Given the description of an element on the screen output the (x, y) to click on. 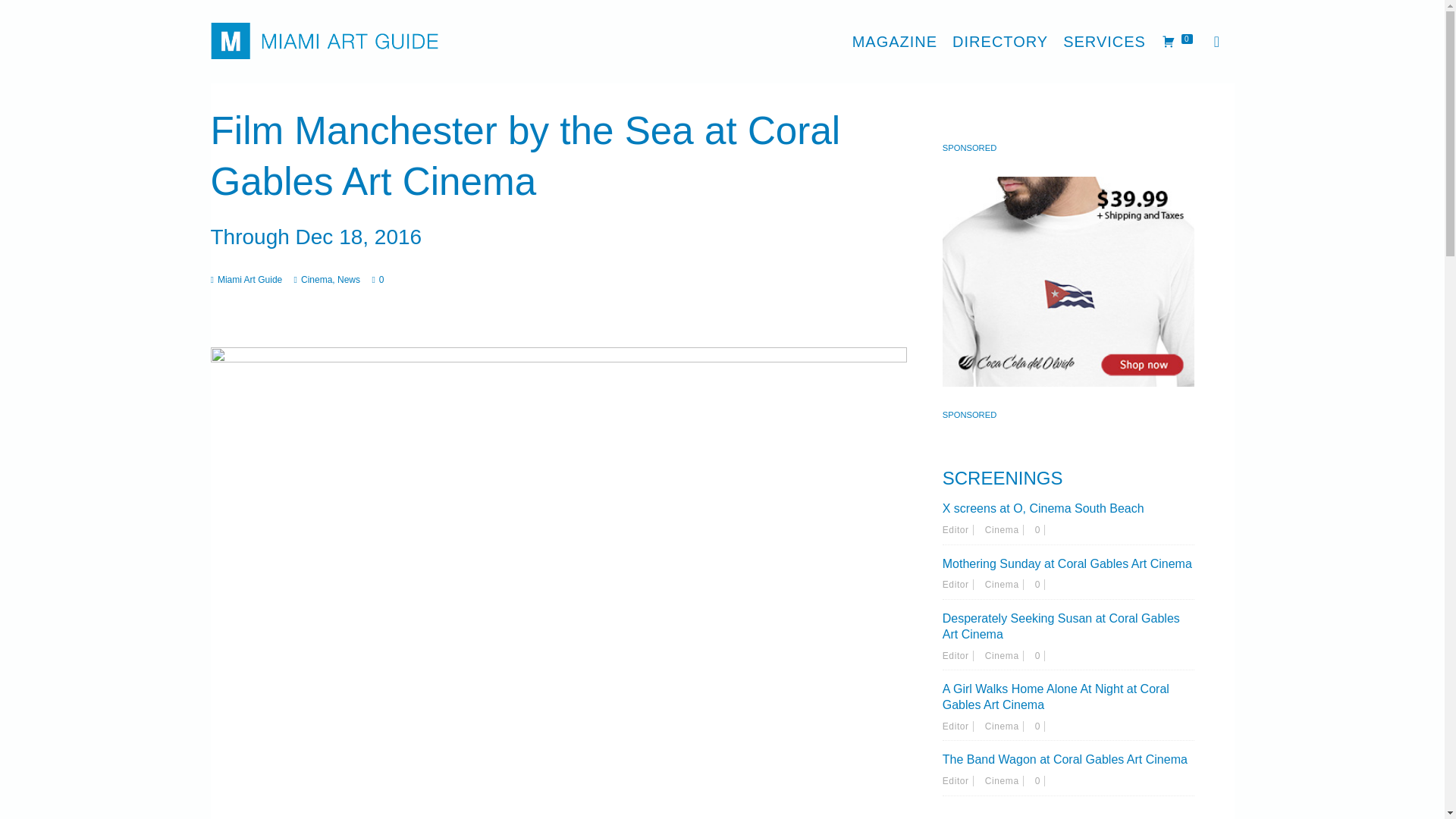
0 (1040, 584)
0 (1040, 655)
DIRECTORY (1000, 41)
MAGAZINE (894, 41)
0 (1040, 780)
SERVICES (1104, 41)
0 (1040, 726)
0 (1040, 529)
